Given the description of an element on the screen output the (x, y) to click on. 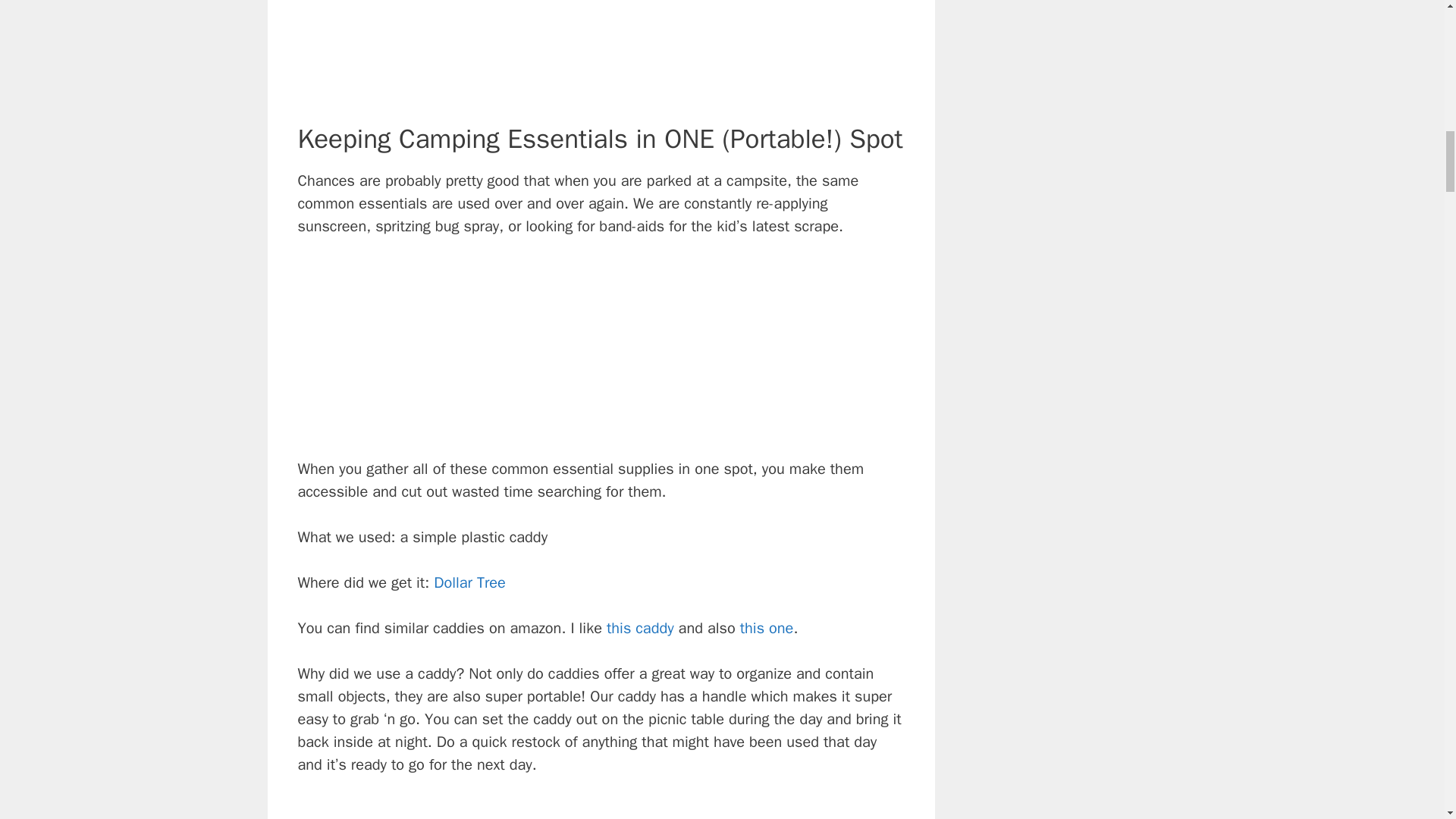
this one (766, 628)
Dollar Tree (469, 582)
this caddy (640, 628)
